Given the description of an element on the screen output the (x, y) to click on. 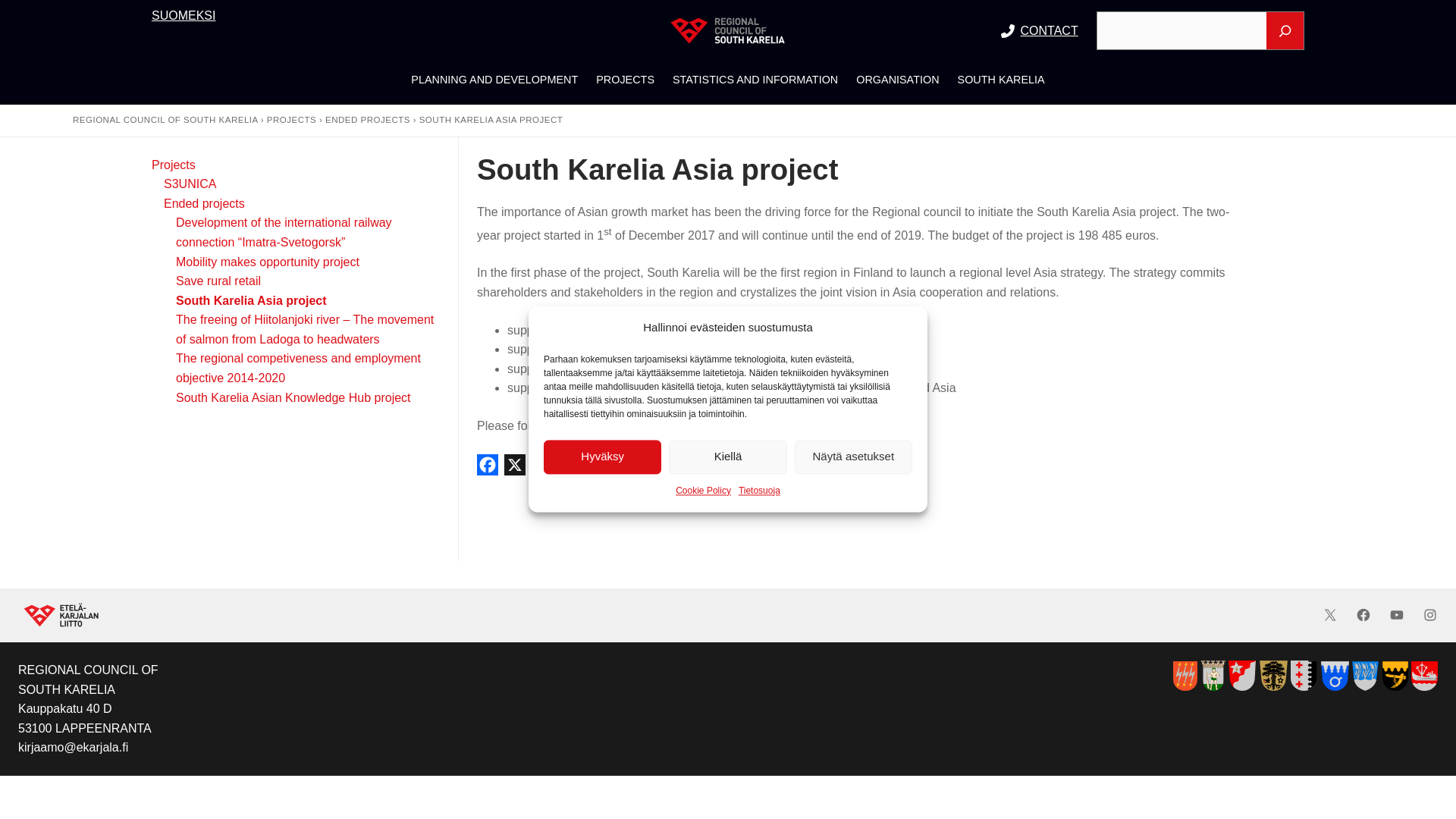
SUOMEKSI (183, 15)
Cookie Policy (702, 491)
X (514, 468)
Facebook (488, 468)
PROJECTS (624, 79)
LinkedIn (542, 468)
STATISTICS AND INFORMATION (755, 79)
REGIONAL COUNCIL OF SOUTH KARELIA (164, 119)
PLANNING AND DEVELOPMENT (494, 79)
Tietosuoja (759, 491)
CONTACT (1049, 30)
ENDED PROJECTS (367, 119)
ORGANISATION (897, 79)
SOUTH KARELIA (1001, 79)
PROJECTS (290, 119)
